Given the description of an element on the screen output the (x, y) to click on. 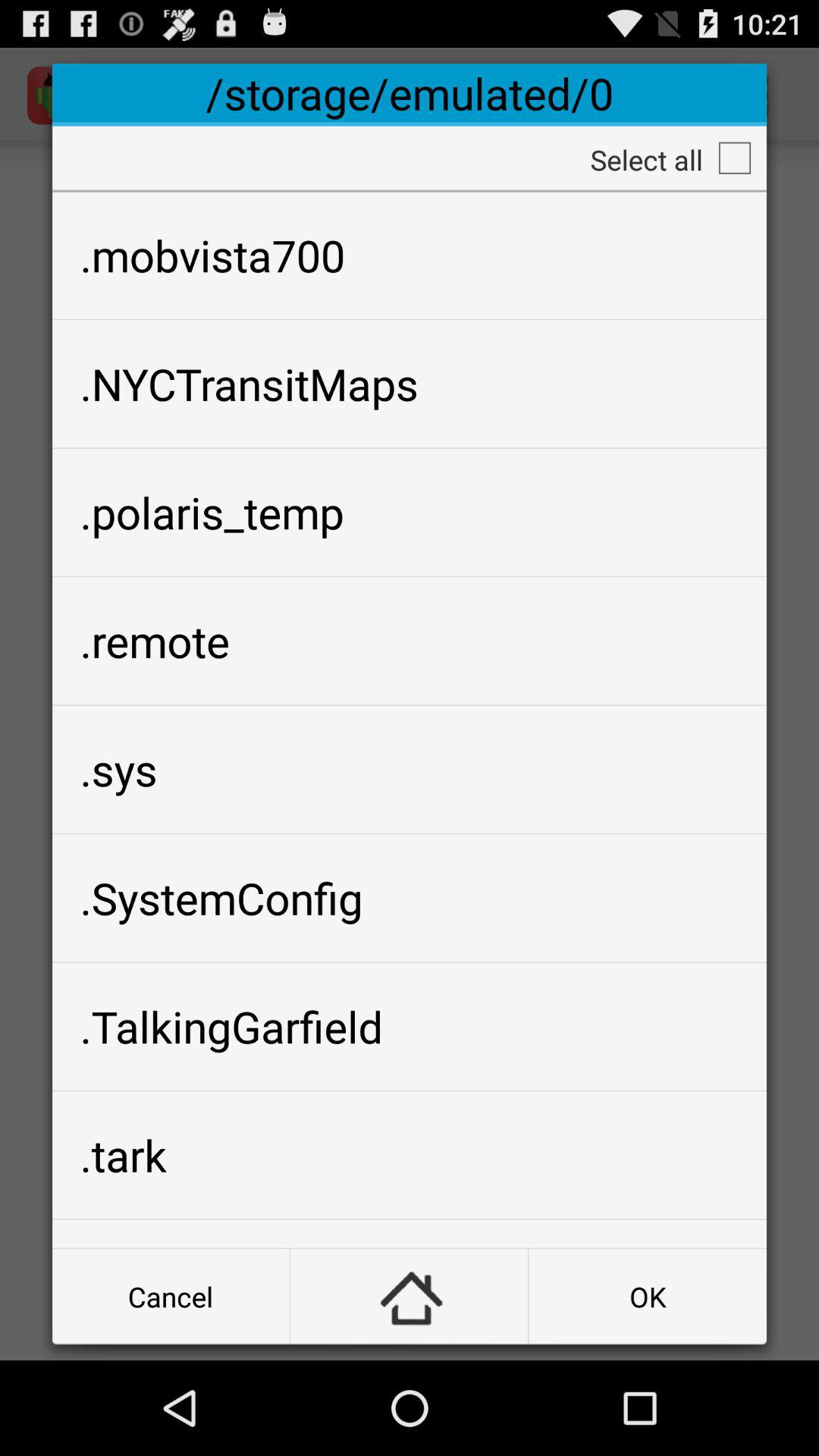
select .mobvista700 icon (409, 255)
